Given the description of an element on the screen output the (x, y) to click on. 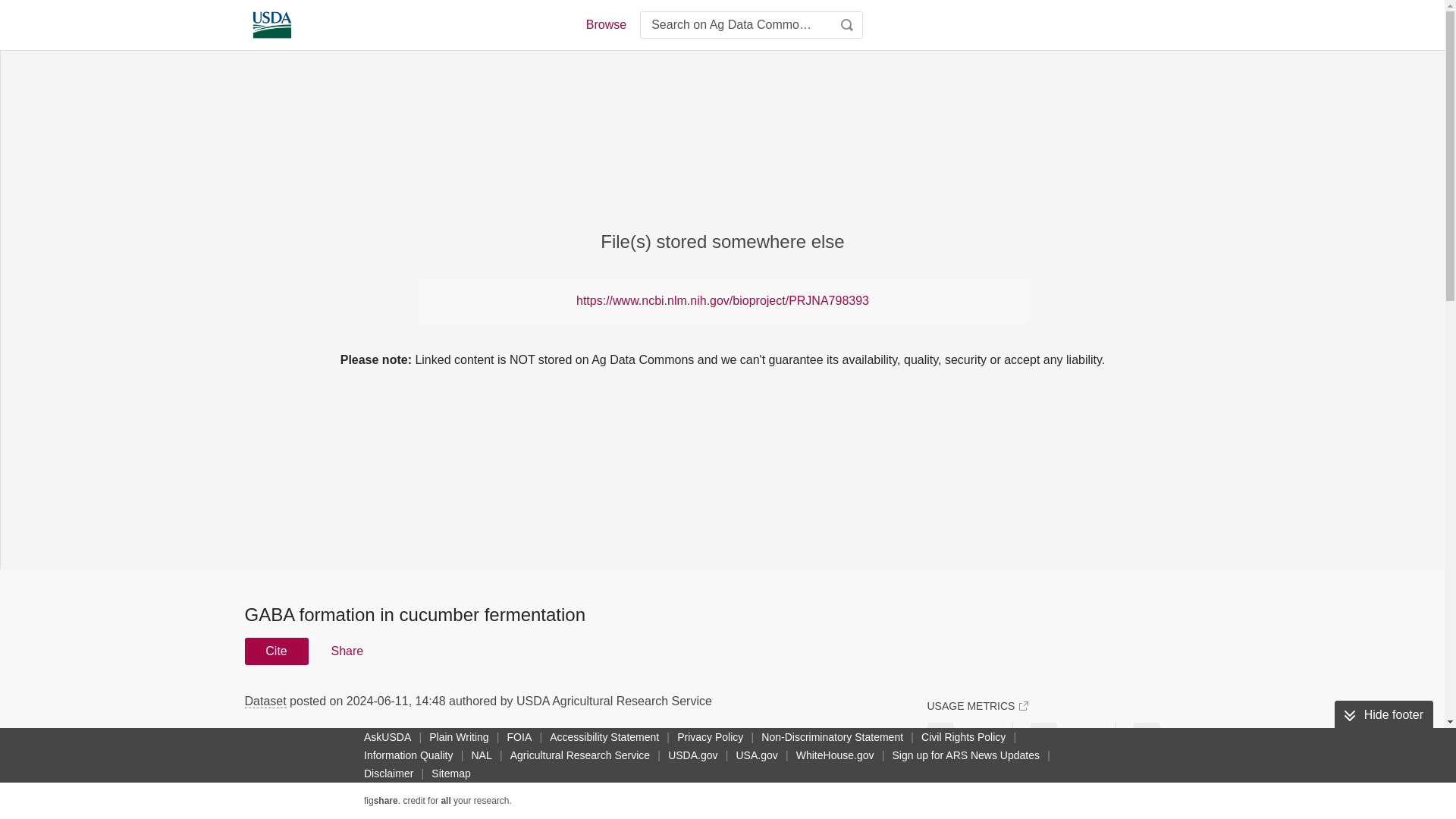
Plain Writing (459, 737)
USA.gov (755, 755)
Agricultural Research Service (579, 755)
Non-Discriminatory Statement (832, 737)
Disclaimer (388, 773)
Sitemap (450, 773)
Sign up for ARS News Updates (964, 755)
FOIA (519, 737)
Information Quality (408, 755)
Hide footer (1383, 715)
